Given the description of an element on the screen output the (x, y) to click on. 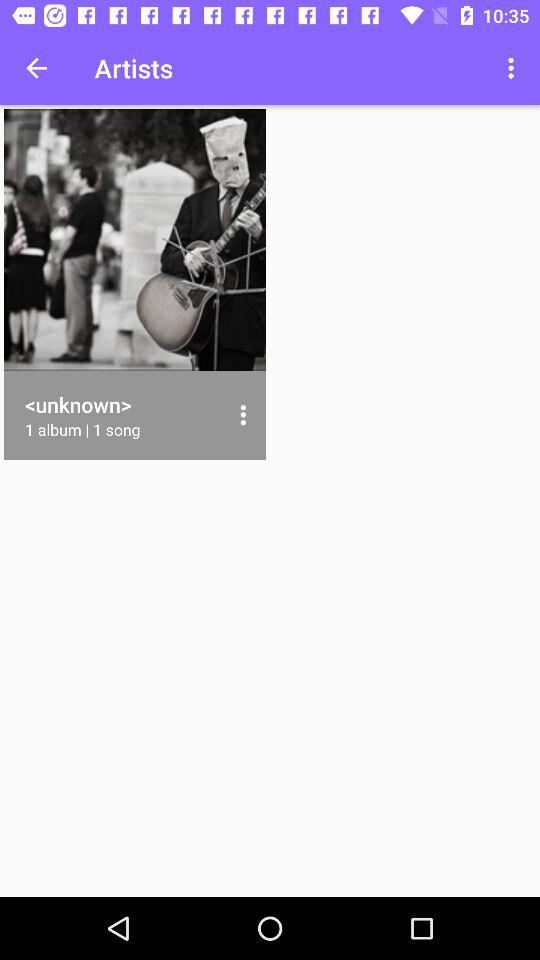
press item at the top right corner (513, 67)
